Given the description of an element on the screen output the (x, y) to click on. 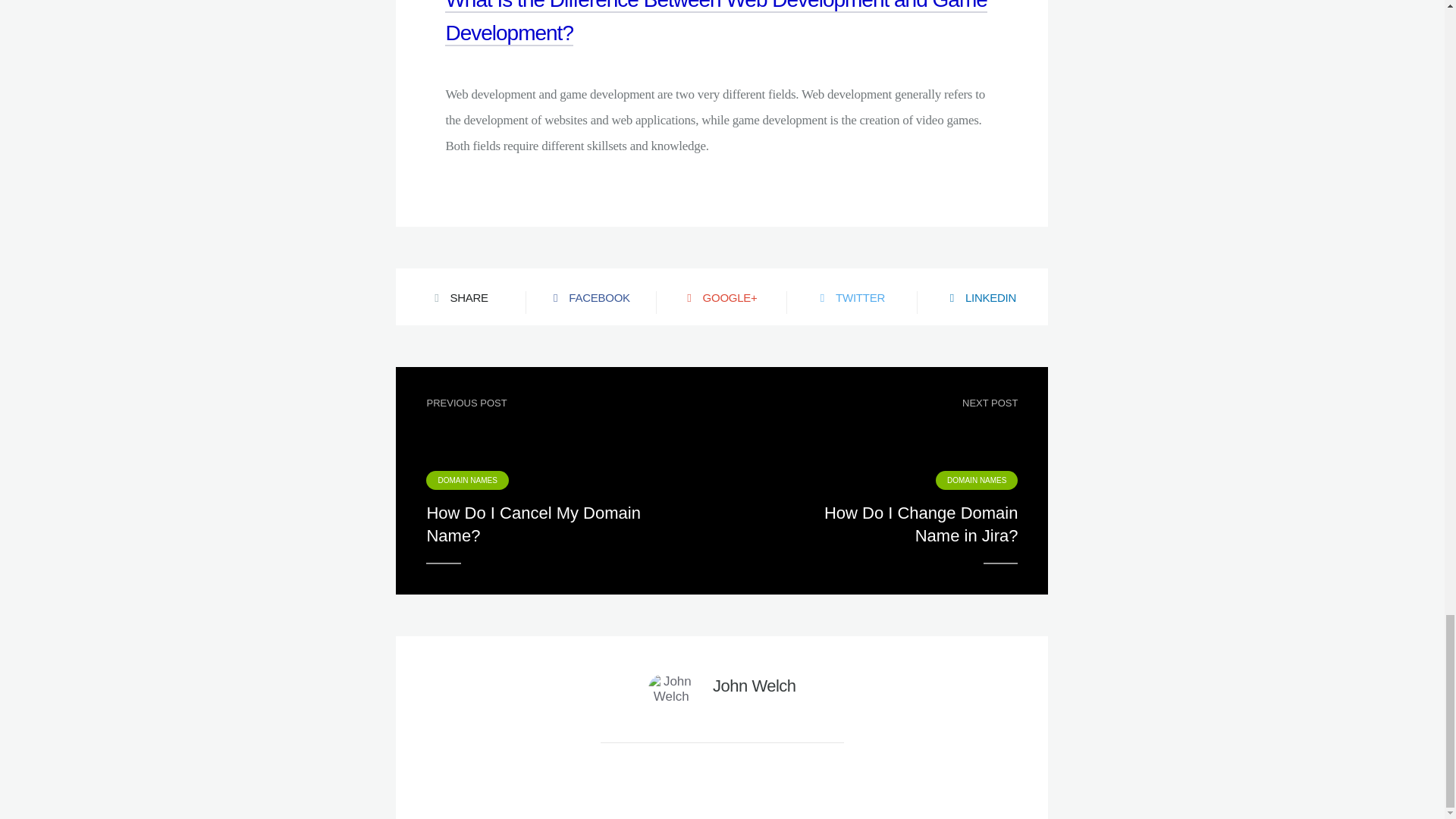
LINKEDIN (982, 296)
FACEBOOK (885, 480)
TWITTER (590, 296)
